Given the description of an element on the screen output the (x, y) to click on. 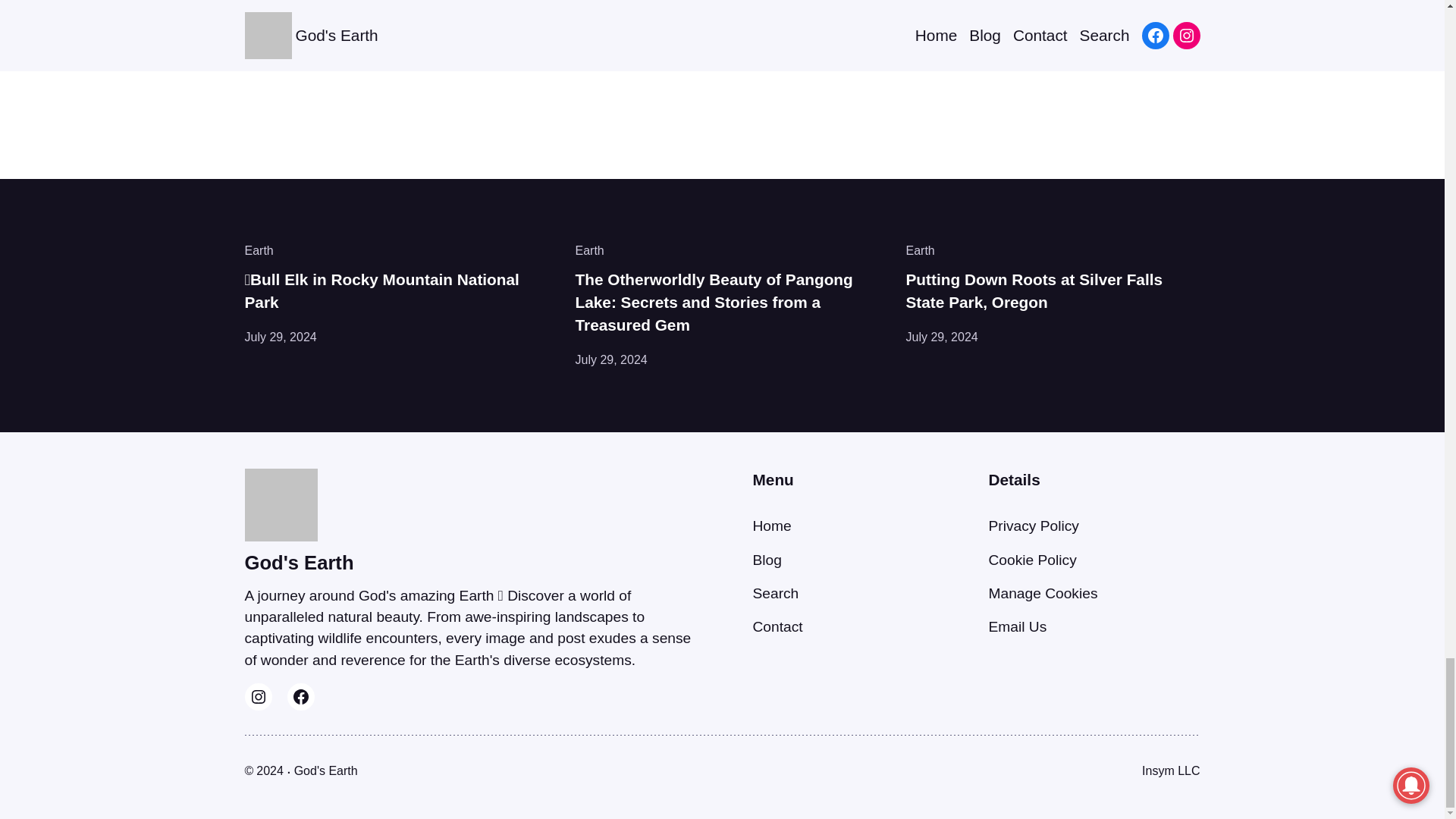
Earth (258, 250)
Privacy Policy (1033, 525)
Cookie Policy (1032, 560)
Search (774, 593)
God's Earth (326, 770)
Manage Cookies (1042, 593)
Earth (589, 250)
Earth (919, 250)
Email Us (1017, 626)
